Given the description of an element on the screen output the (x, y) to click on. 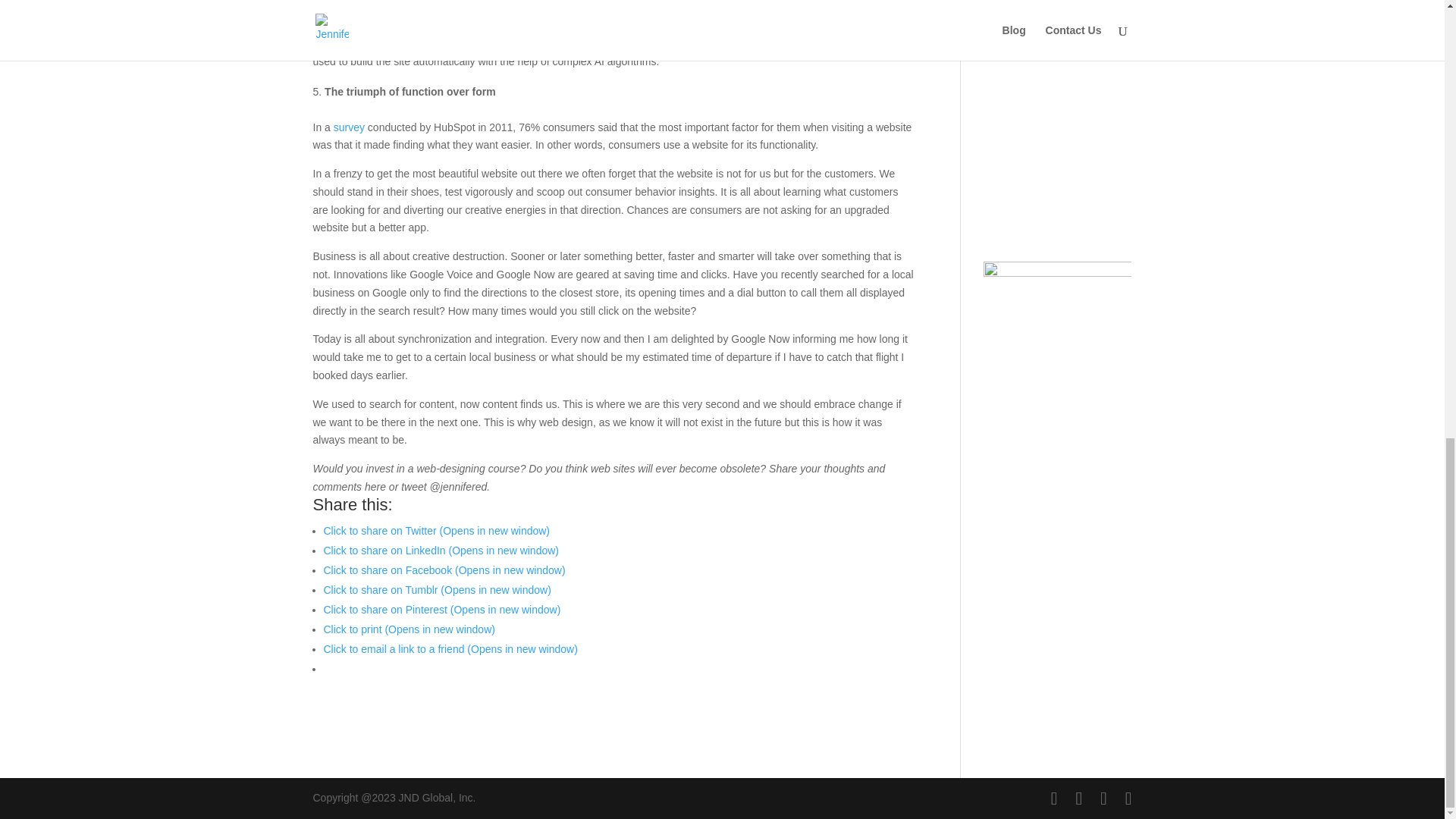
LinkedIn (1104, 5)
Click to email a link to a friend (449, 648)
Twitter (1103, 193)
Click to share on Twitter (436, 530)
The Grid (516, 1)
Click to share on Facebook (443, 570)
Click to share on Pinterest (441, 609)
Phone (1104, 121)
Click to share on LinkedIn (441, 550)
